Given the description of an element on the screen output the (x, y) to click on. 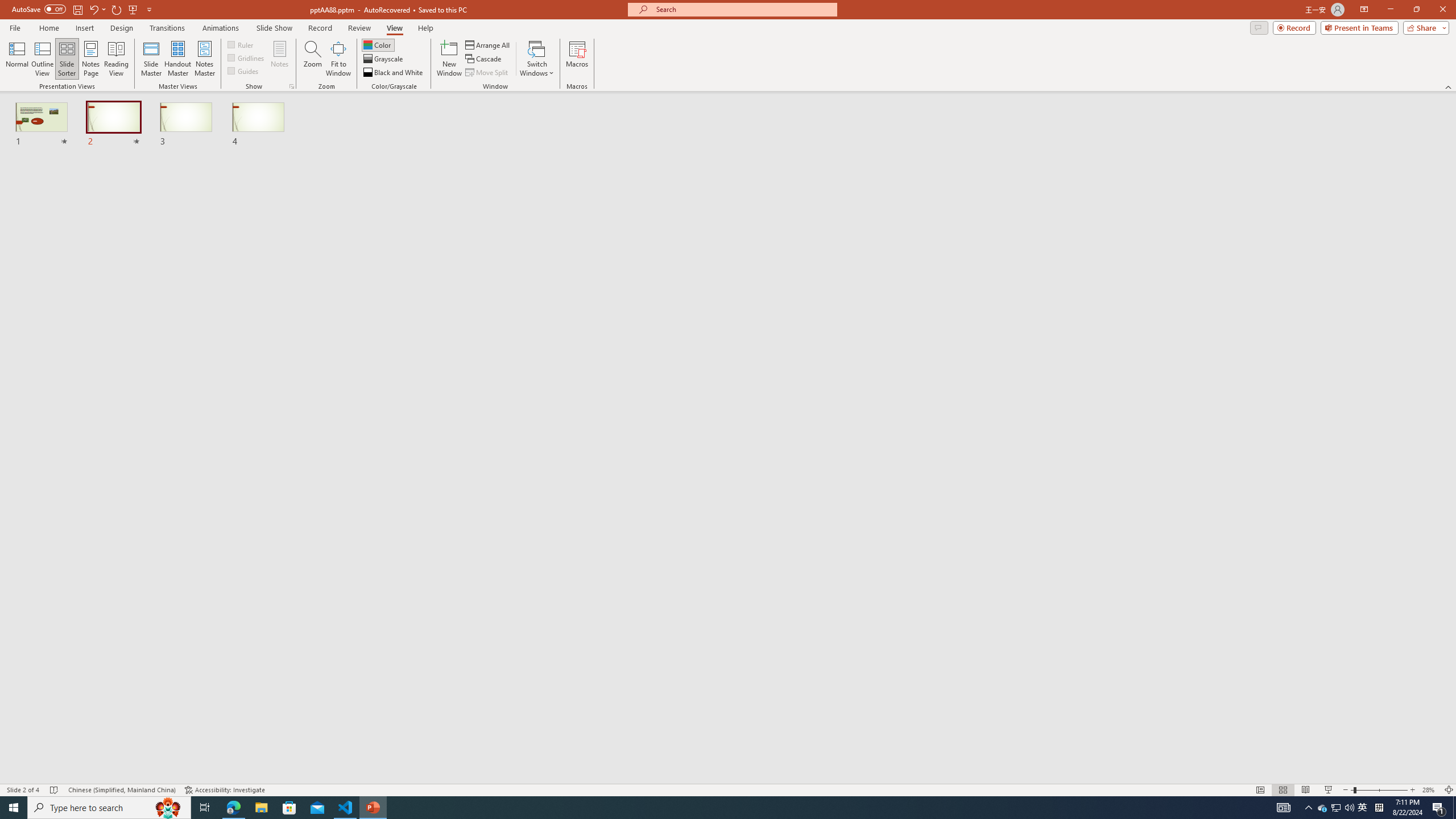
Notes (279, 58)
Macros (576, 58)
Switch Windows (537, 58)
